Given the description of an element on the screen output the (x, y) to click on. 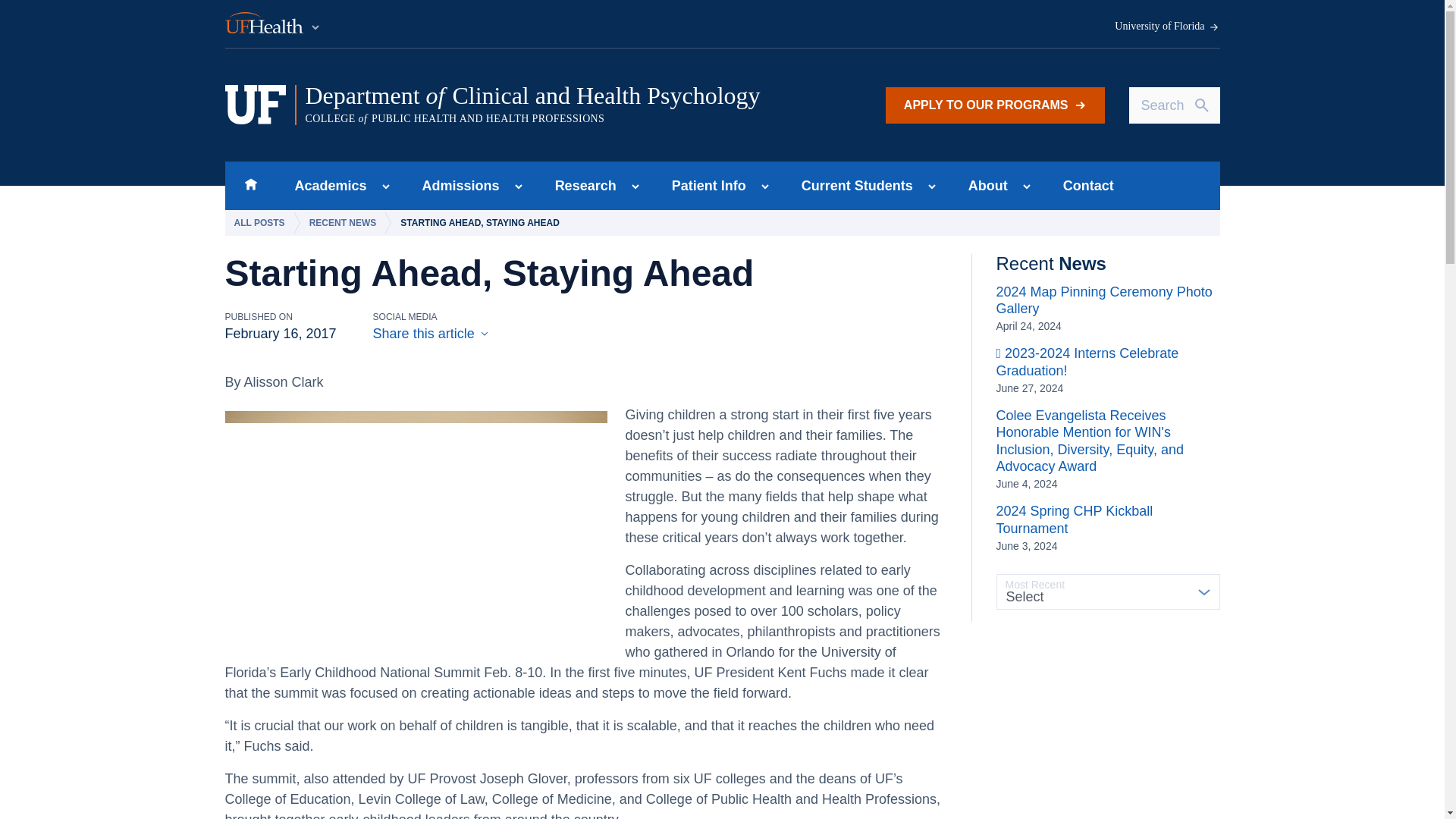
Admissions (456, 185)
UF Health (272, 24)
Home (250, 185)
University of Florida (1167, 26)
APPLY TO OUR PROGRAMS (995, 104)
Academics (325, 185)
